Given the description of an element on the screen output the (x, y) to click on. 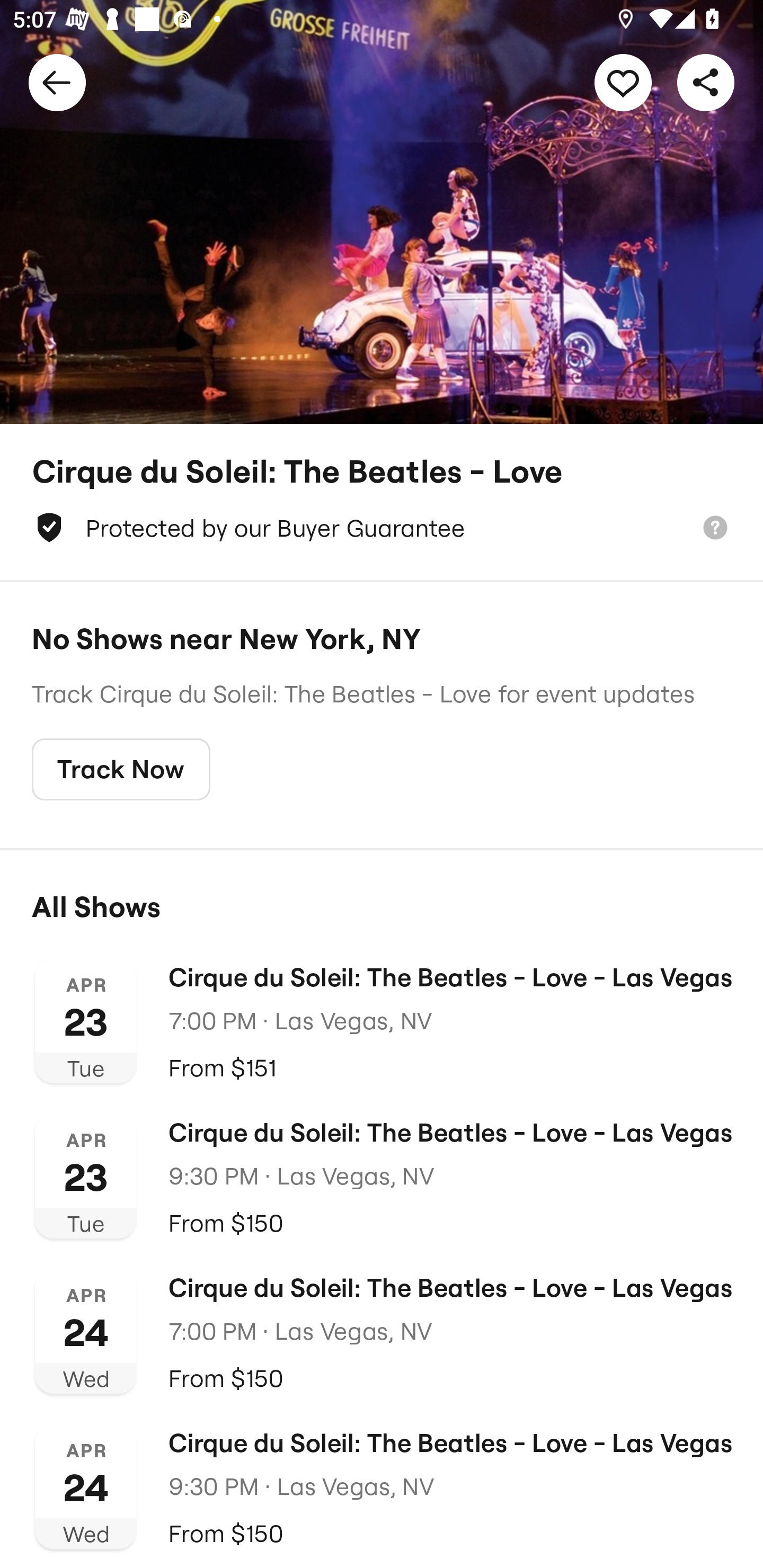
Back (57, 81)
Track this performer (623, 81)
Share this performer (705, 81)
Protected by our Buyer Guarantee Learn more (381, 527)
Track Now (121, 769)
